Given the description of an element on the screen output the (x, y) to click on. 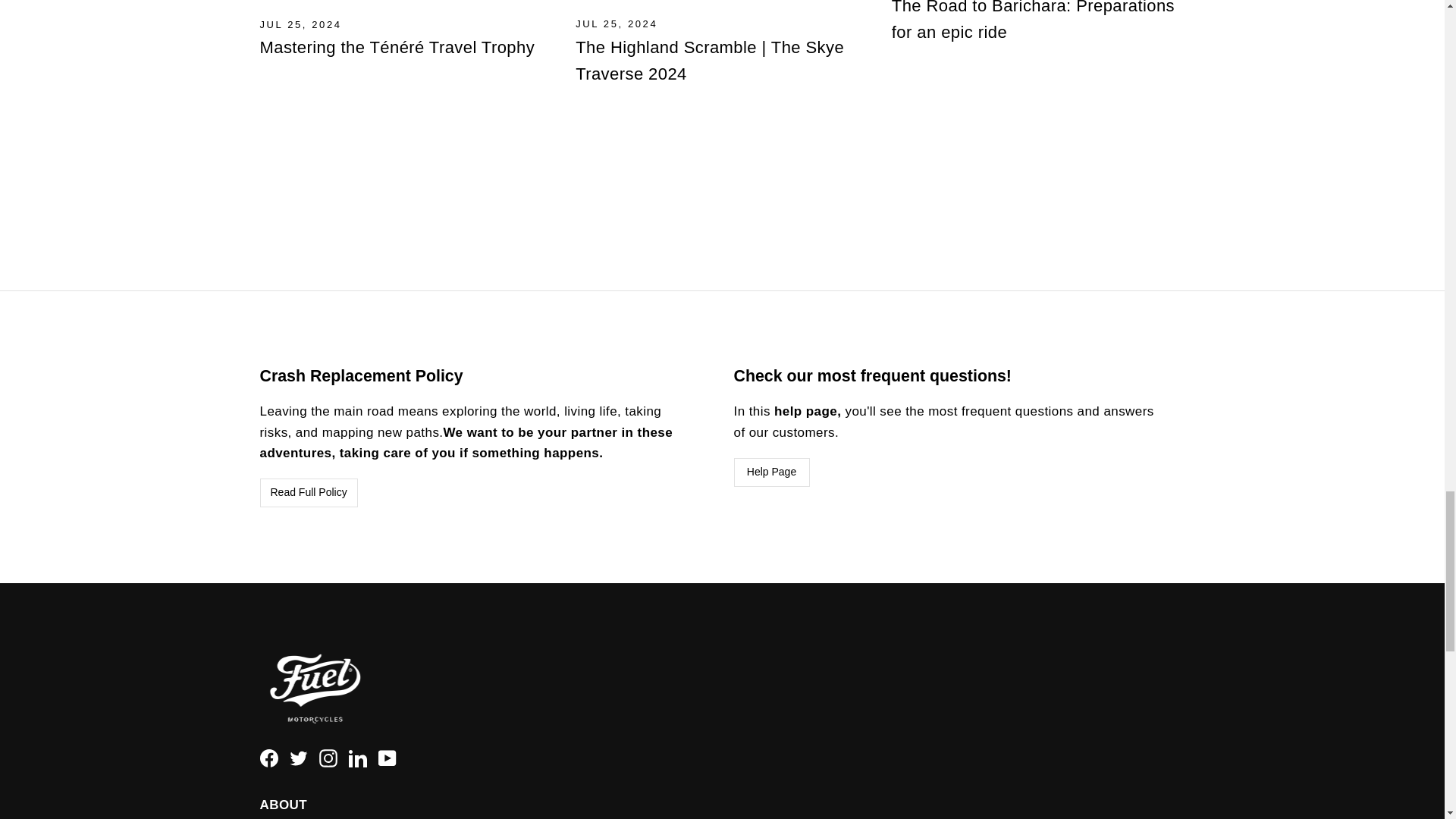
Fuel Motorcycles on Twitter (298, 756)
Fuel Motorcycles on LinkedIn (357, 756)
Fuel Motorcycles on Instagram (327, 756)
